Given the description of an element on the screen output the (x, y) to click on. 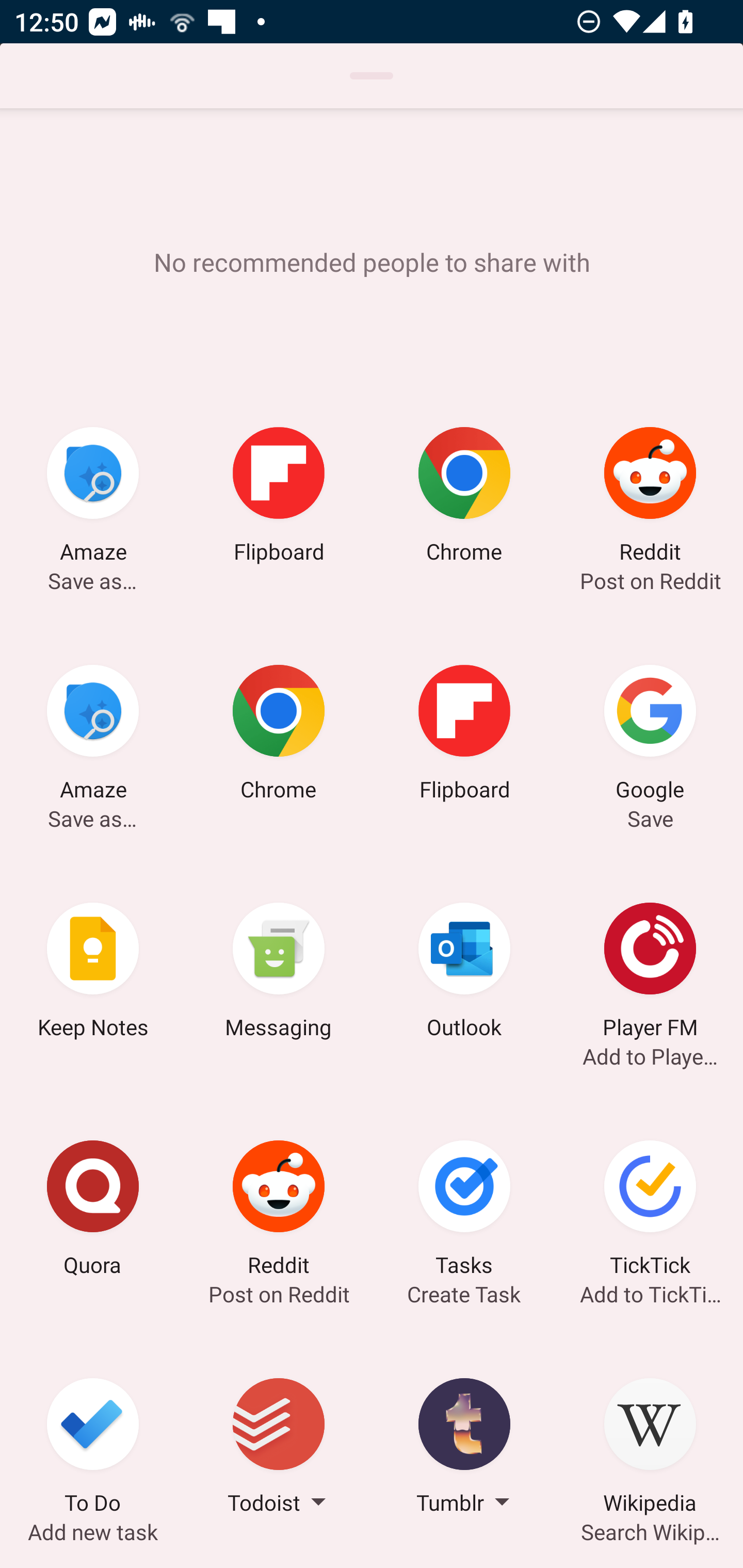
Amaze Save as… (92, 497)
Flipboard (278, 497)
Chrome (464, 497)
Reddit Post on Reddit (650, 497)
Amaze Save as… (92, 735)
Chrome (278, 735)
Flipboard (464, 735)
Google Save (650, 735)
Keep Notes (92, 973)
Messaging (278, 973)
Outlook (464, 973)
Player FM Add to Player FM (650, 973)
Quora (92, 1210)
Reddit Post on Reddit (278, 1210)
Tasks Create Task (464, 1210)
TickTick Add to TickTick (650, 1210)
To Do Add new task (92, 1448)
Todoist (278, 1448)
Tumblr (464, 1448)
Wikipedia Search Wikipedia (650, 1448)
